Given the description of an element on the screen output the (x, y) to click on. 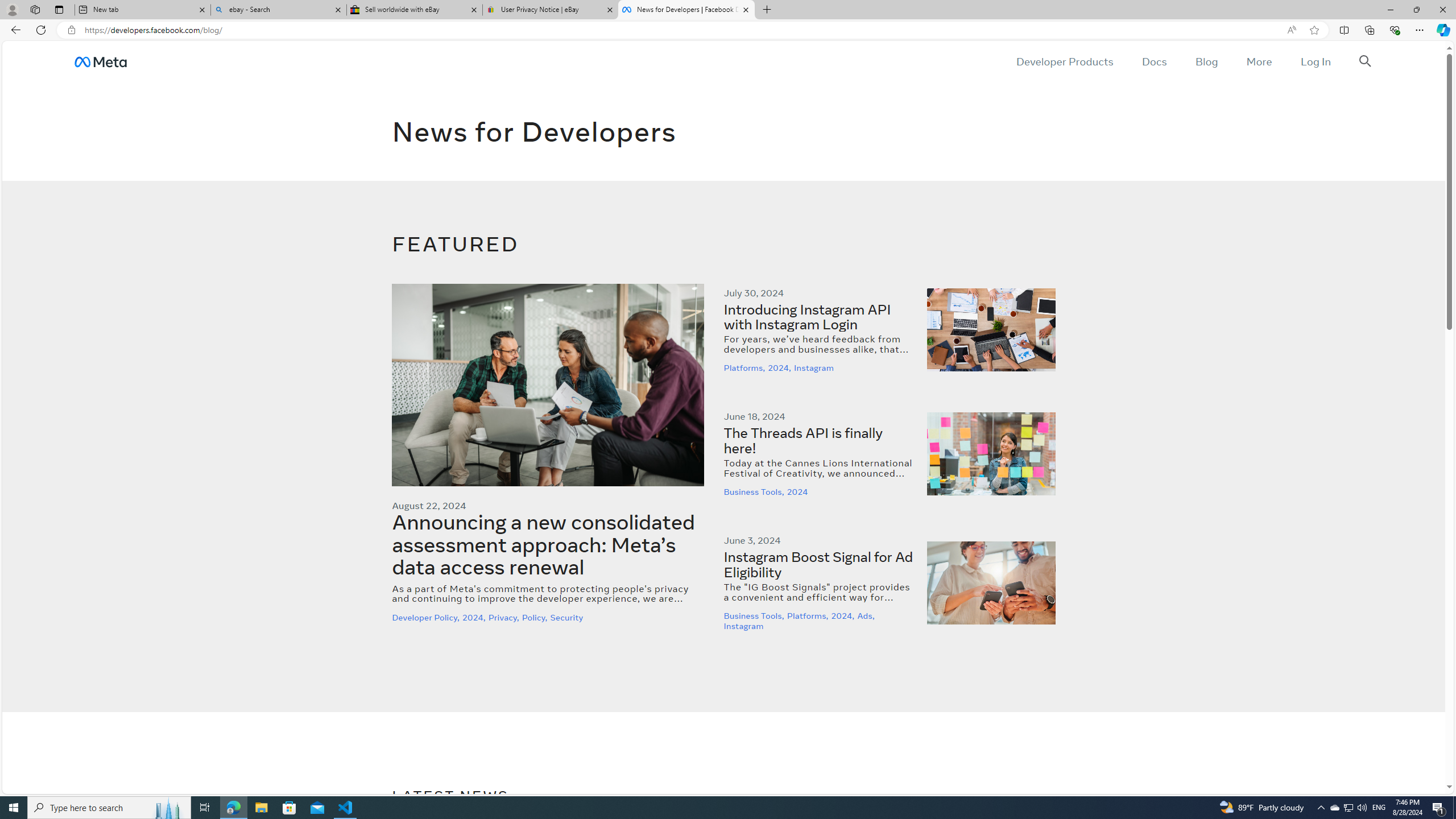
Developer Policy, (427, 616)
More (1259, 61)
Security (568, 616)
Business Tools, (755, 615)
AutomationID: u_0_4z_2S (100, 61)
Docs (1153, 61)
